Given the description of an element on the screen output the (x, y) to click on. 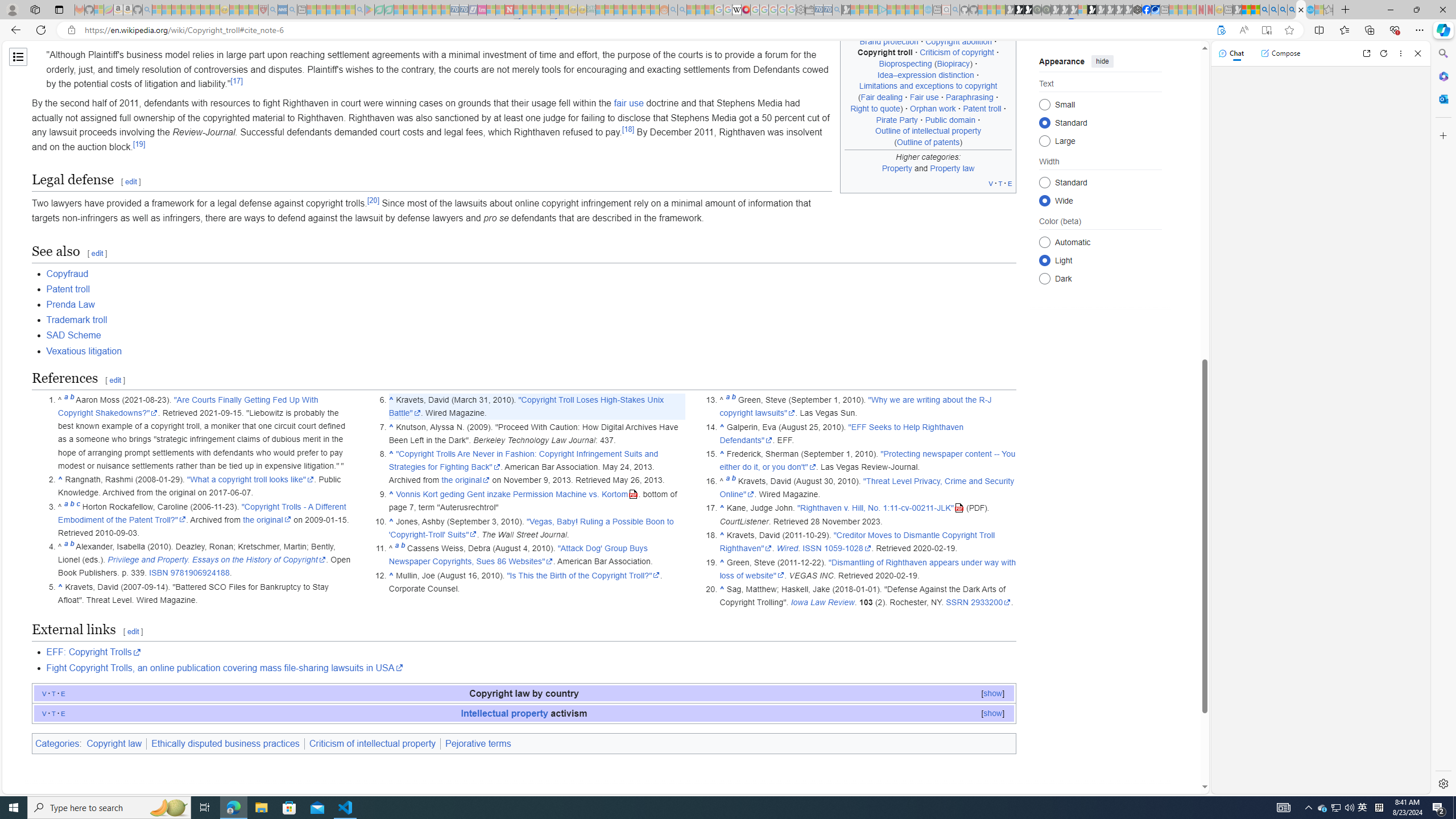
Pets - MSN - Sleeping (340, 9)
Public domain (949, 119)
Pirate Party (897, 119)
(Biopiracy) (952, 63)
Outline of patents (927, 141)
Chat (1231, 52)
